Given the description of an element on the screen output the (x, y) to click on. 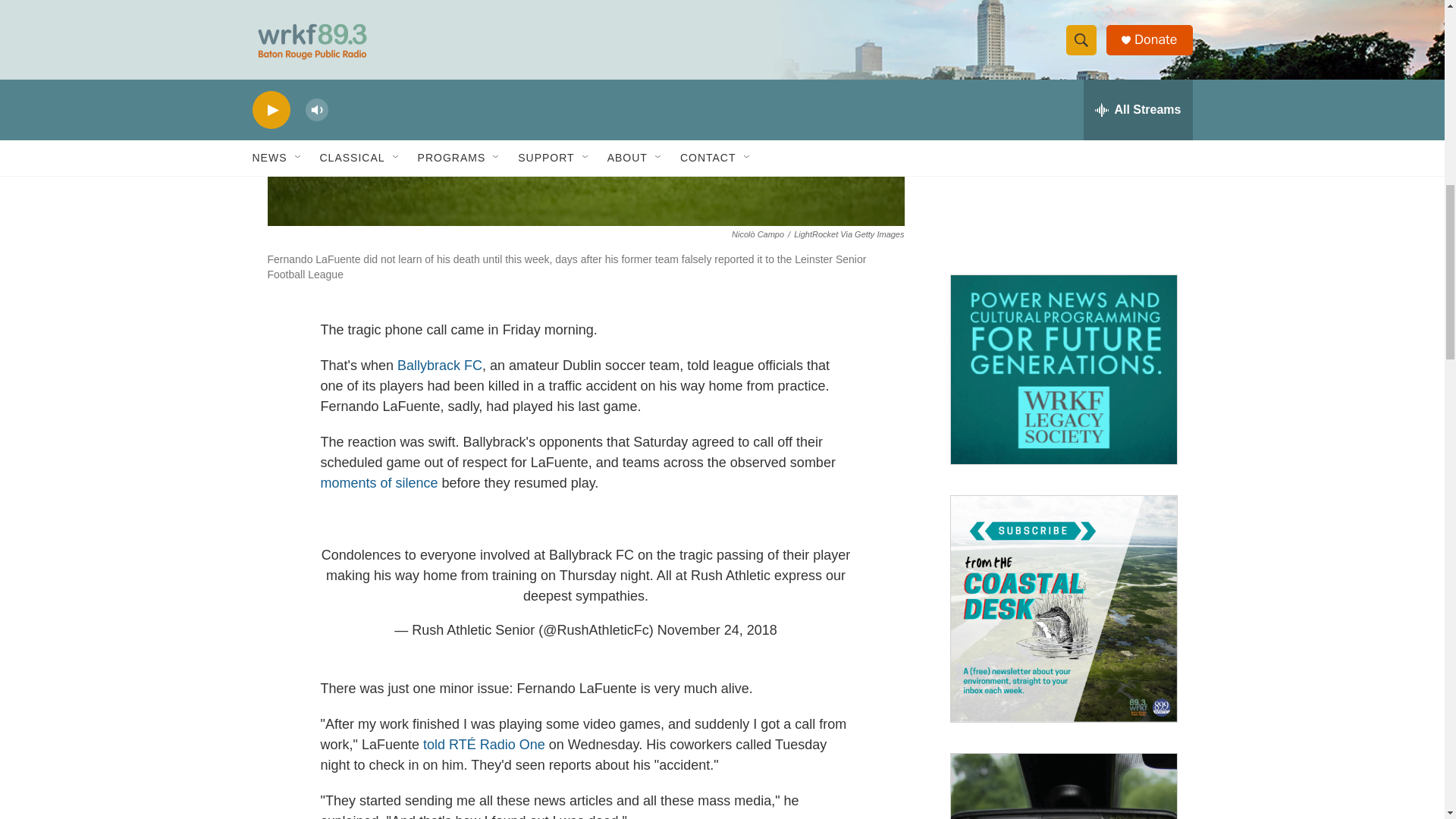
3rd party ad content (1062, 149)
